Given the description of an element on the screen output the (x, y) to click on. 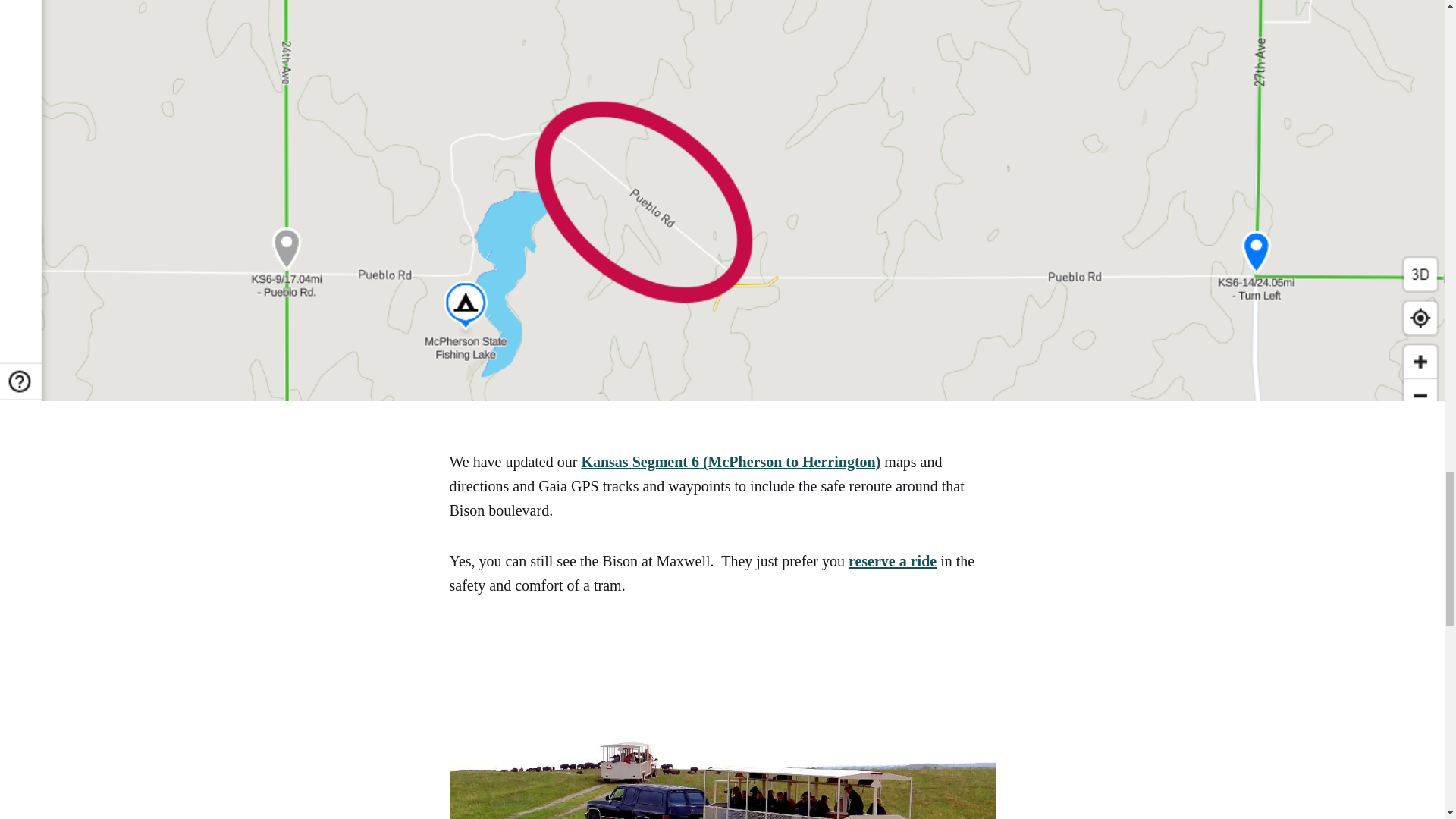
reserve a ride (892, 560)
